Given the description of an element on the screen output the (x, y) to click on. 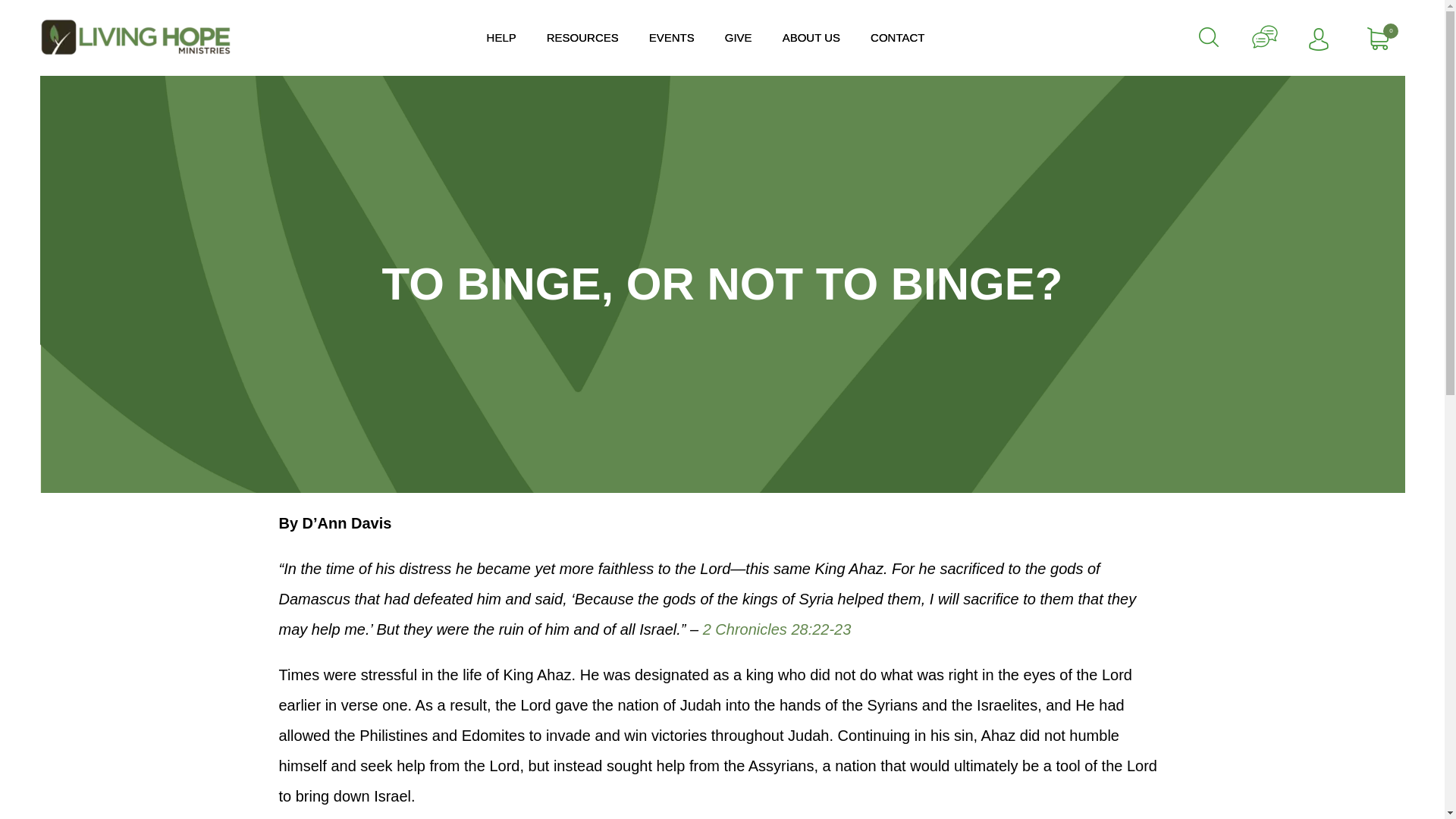
Online Community (1265, 37)
ABOUT US (811, 37)
RESOURCES (582, 37)
GIVE (738, 37)
EVENTS (671, 37)
HELP (501, 37)
View your shopping cart (1377, 37)
